Given the description of an element on the screen output the (x, y) to click on. 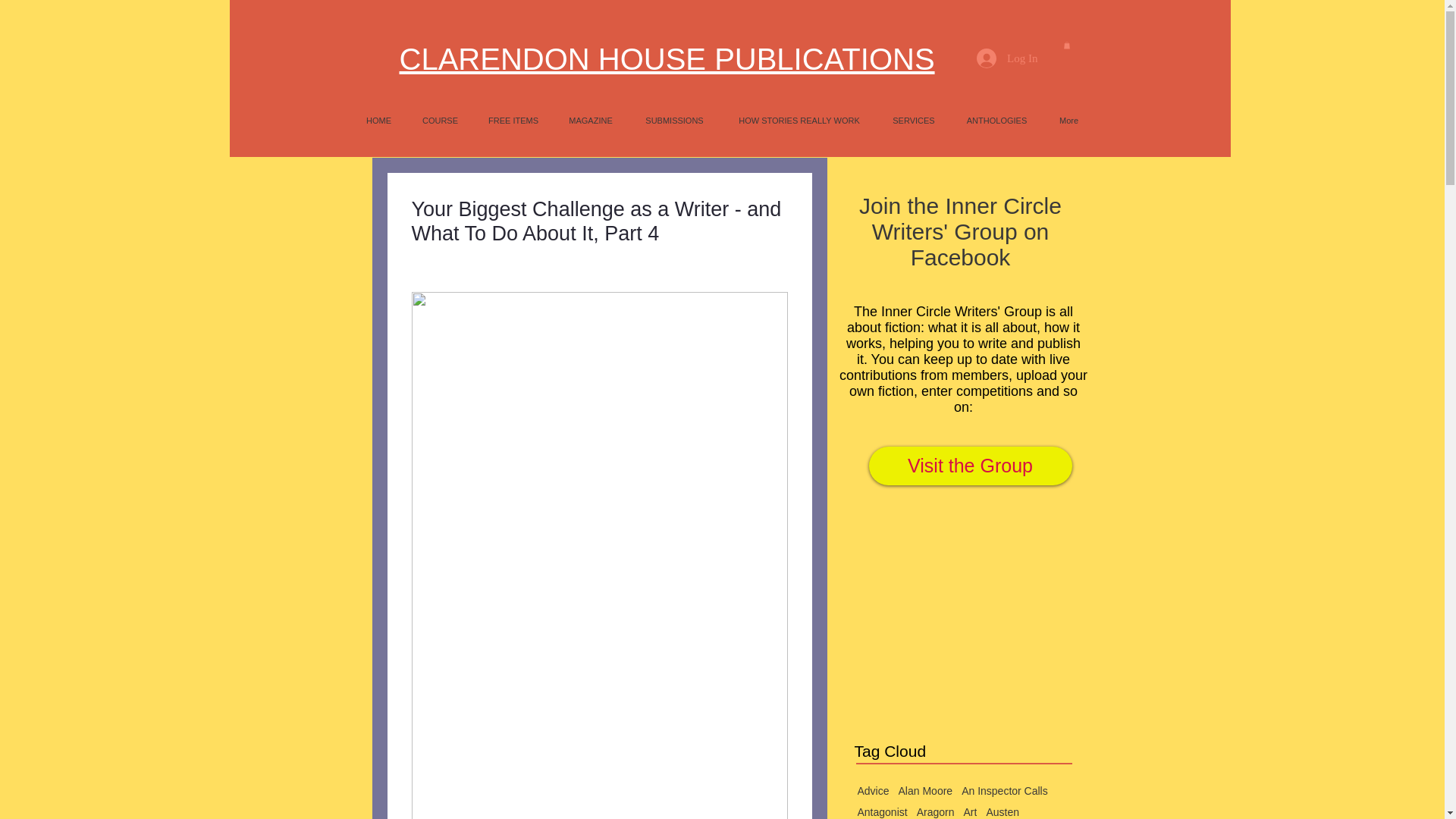
HOME (378, 120)
CLARENDON HOUSE PUBLICATIONS (666, 59)
SUBMISSIONS (673, 120)
MAGAZINE (590, 120)
FREE ITEMS (513, 120)
HOW STORIES REALLY WORK (798, 120)
SERVICES (913, 120)
ANTHOLOGIES (996, 120)
COURSE (439, 120)
